Given the description of an element on the screen output the (x, y) to click on. 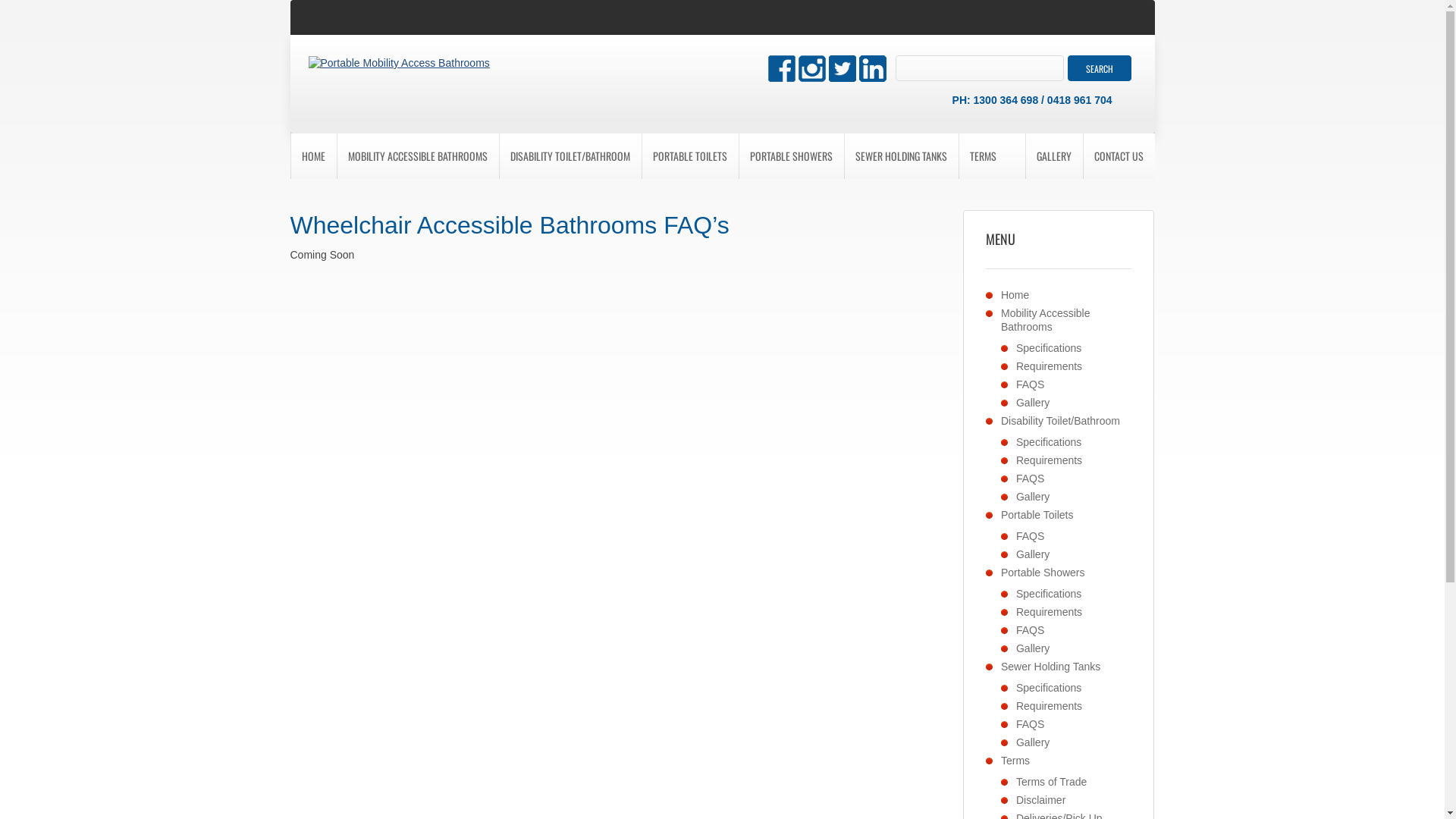
PORTABLE SHOWERS Element type: text (791, 155)
Specifications Element type: text (1048, 442)
Requirements Element type: text (1049, 705)
CONTACT US Element type: text (1118, 155)
Specifications Element type: text (1048, 687)
Requirements Element type: text (1049, 366)
Gallery Element type: text (1032, 742)
Specifications Element type: text (1048, 348)
FAQS Element type: text (1030, 724)
Search Element type: text (1099, 68)
Terms of Trade Element type: text (1051, 781)
Mobility Accessible Bathrooms Element type: text (1045, 319)
Requirements Element type: text (1049, 611)
Sewer Holding Tanks Element type: text (1050, 666)
Gallery Element type: text (1032, 648)
SEWER HOLDING TANKS Element type: text (900, 155)
TERMS Element type: text (982, 155)
GALLERY Element type: text (1053, 155)
MOBILITY ACCESSIBLE BATHROOMS Element type: text (417, 155)
FAQS Element type: text (1030, 630)
Portable Toilets Element type: text (1037, 514)
HOME Element type: text (312, 155)
Portable Showers Element type: text (1043, 572)
FAQS Element type: text (1030, 384)
Terms Element type: text (1015, 760)
Gallery Element type: text (1032, 554)
Requirements Element type: text (1049, 460)
FAQS Element type: text (1030, 478)
Home Element type: text (1015, 294)
PORTABLE TOILETS Element type: text (689, 155)
Gallery Element type: text (1032, 402)
Specifications Element type: text (1048, 593)
Disability Toilet/Bathroom Element type: text (1060, 420)
FAQS Element type: text (1030, 536)
DISABILITY TOILET/BATHROOM Element type: text (569, 155)
Disclaimer Element type: text (1040, 799)
Gallery Element type: text (1032, 496)
